Given the description of an element on the screen output the (x, y) to click on. 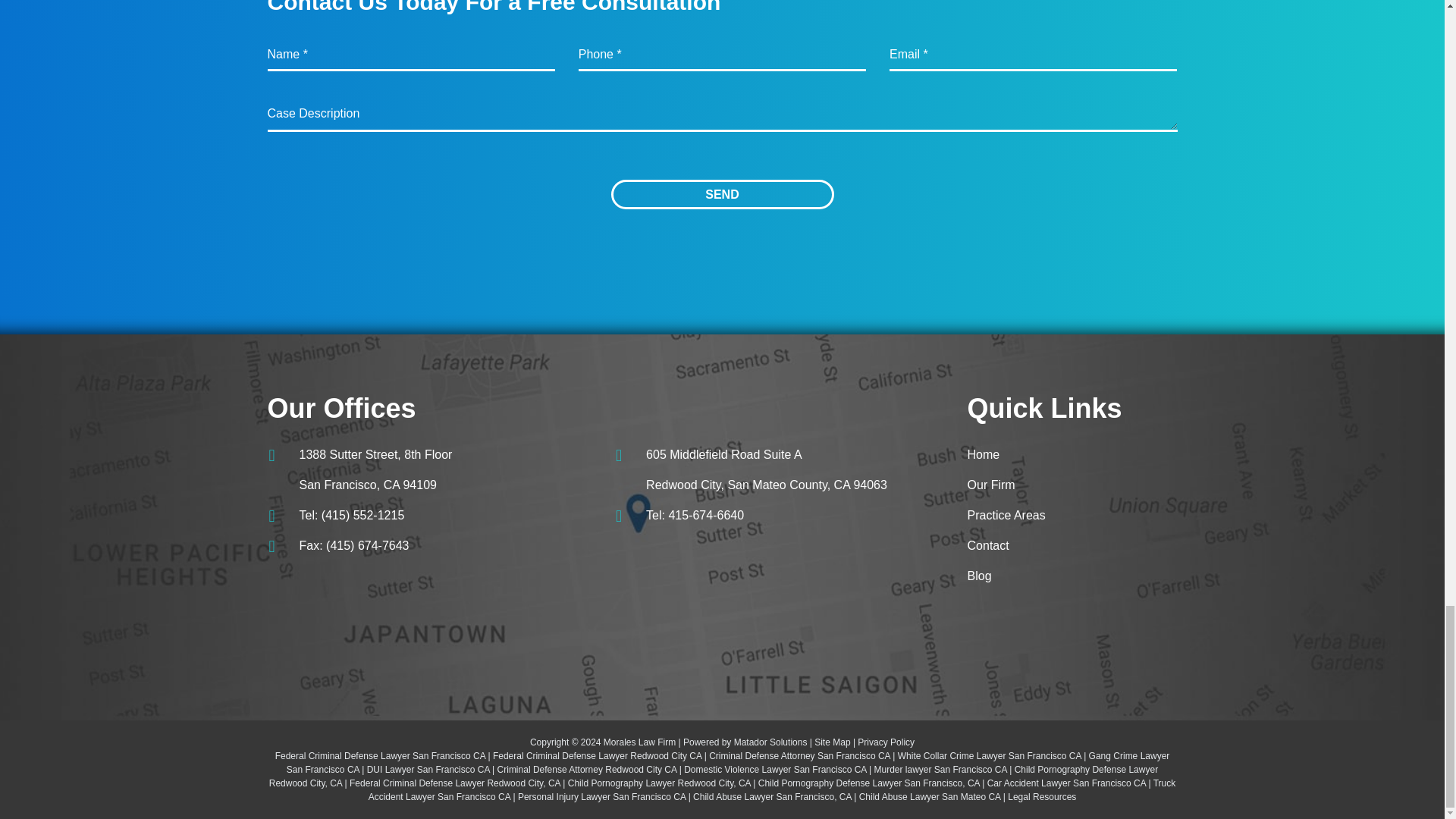
Send (722, 194)
